Given the description of an element on the screen output the (x, y) to click on. 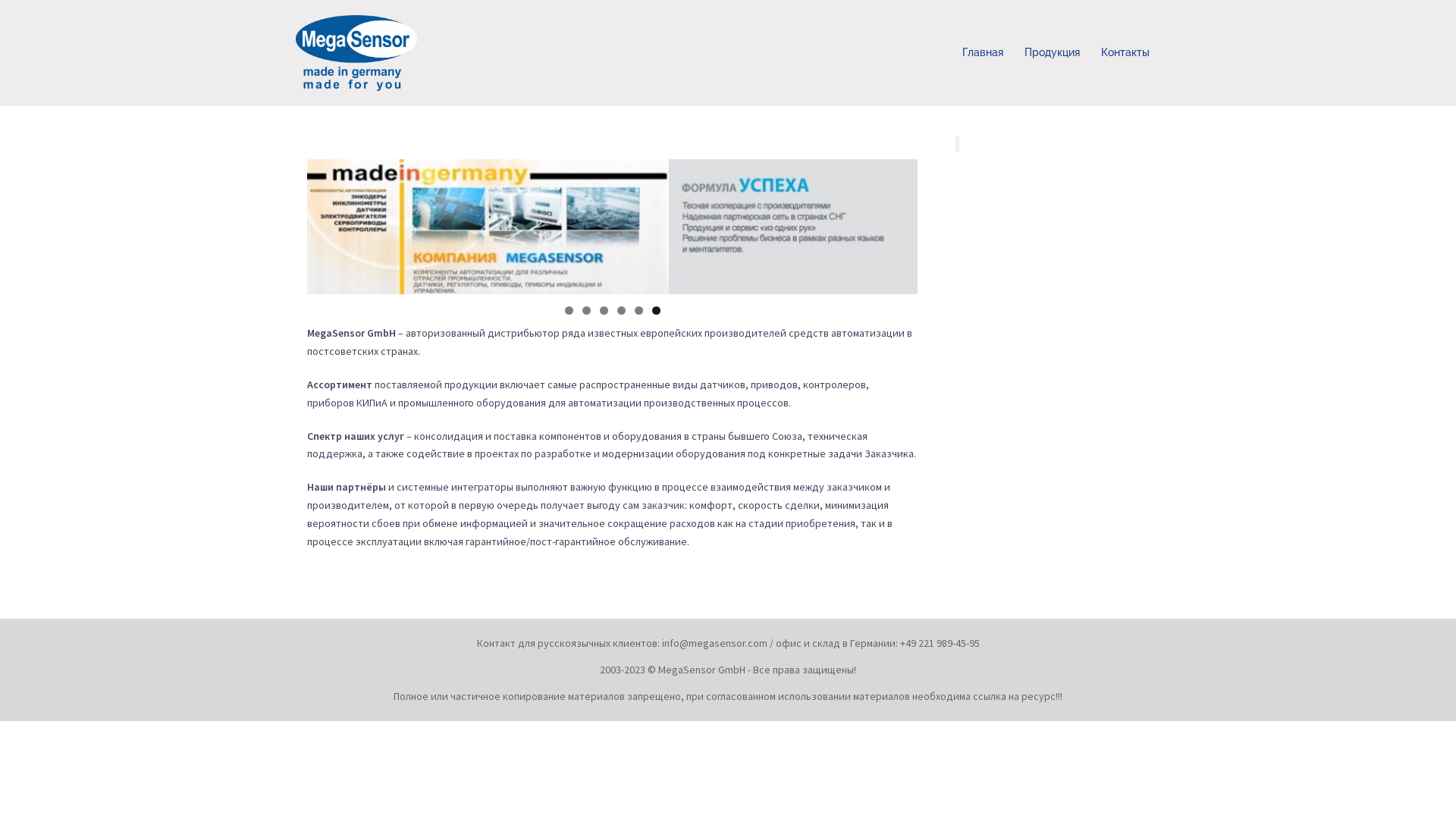
startseite-v2 Element type: hover (612, 226)
4 Element type: text (621, 310)
6 Element type: text (656, 310)
1 Element type: text (568, 310)
5 Element type: text (637, 310)
3 Element type: text (603, 310)
2 Element type: text (586, 310)
